Given the description of an element on the screen output the (x, y) to click on. 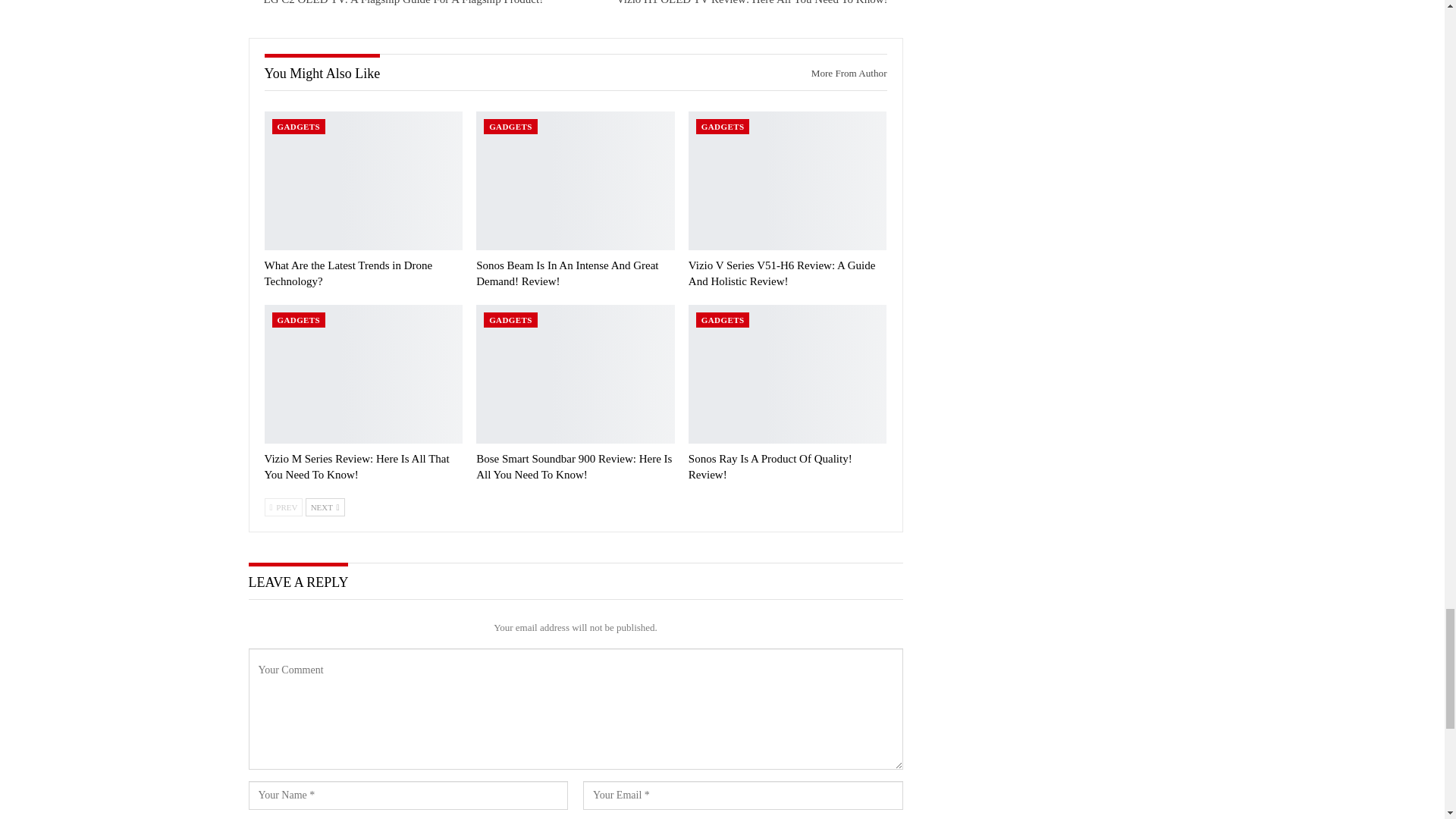
GADGETS (722, 126)
Vizio V Series V51-H6 Review: A Guide And Holistic Review! (782, 273)
Sonos Beam Is In An Intense And Great Demand! Review! (567, 273)
Sonos Beam Is In An Intense And Great Demand! Review! (567, 273)
GADGETS (510, 126)
Vizio M Series Review: Here Is All That You Need To Know! (363, 373)
Vizio V Series V51-H6 Review: A Guide And Holistic Review! (782, 273)
GADGETS (297, 319)
Vizio H1 OLED TV Review: Here All You Need To Know! (751, 2)
LG C2 OLED TV: A Flagship Guide For A Flagship Product! (403, 2)
What Are the Latest Trends in Drone Technology? (347, 273)
What Are the Latest Trends in Drone Technology? (363, 180)
You Might Also Like (321, 73)
Vizio M Series Review: Here Is All That You Need To Know! (355, 466)
What Are the Latest Trends in Drone Technology? (347, 273)
